Given the description of an element on the screen output the (x, y) to click on. 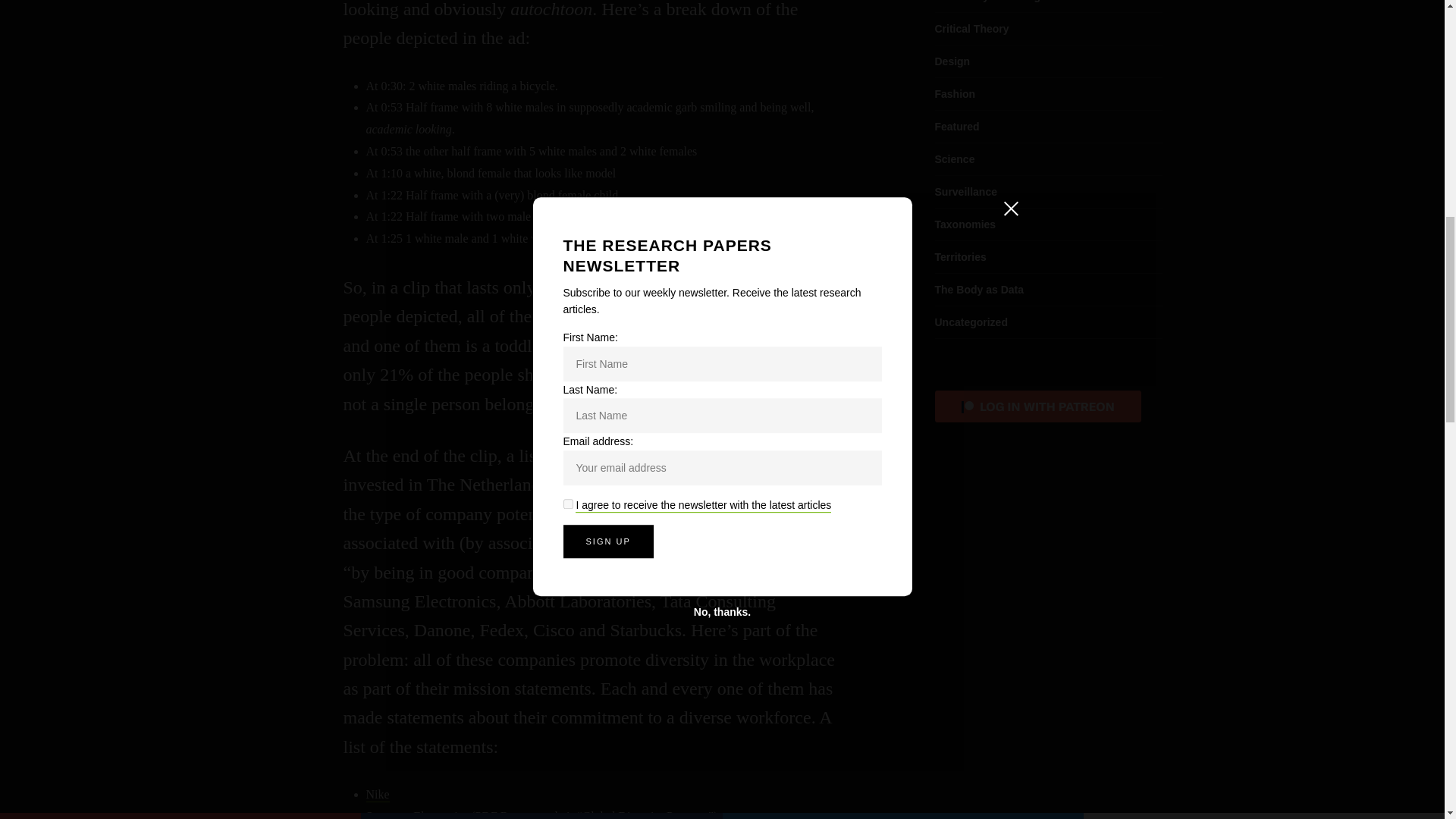
Nike (376, 794)
Twitter (902, 15)
Facebook (541, 15)
Like (180, 15)
